Given the description of an element on the screen output the (x, y) to click on. 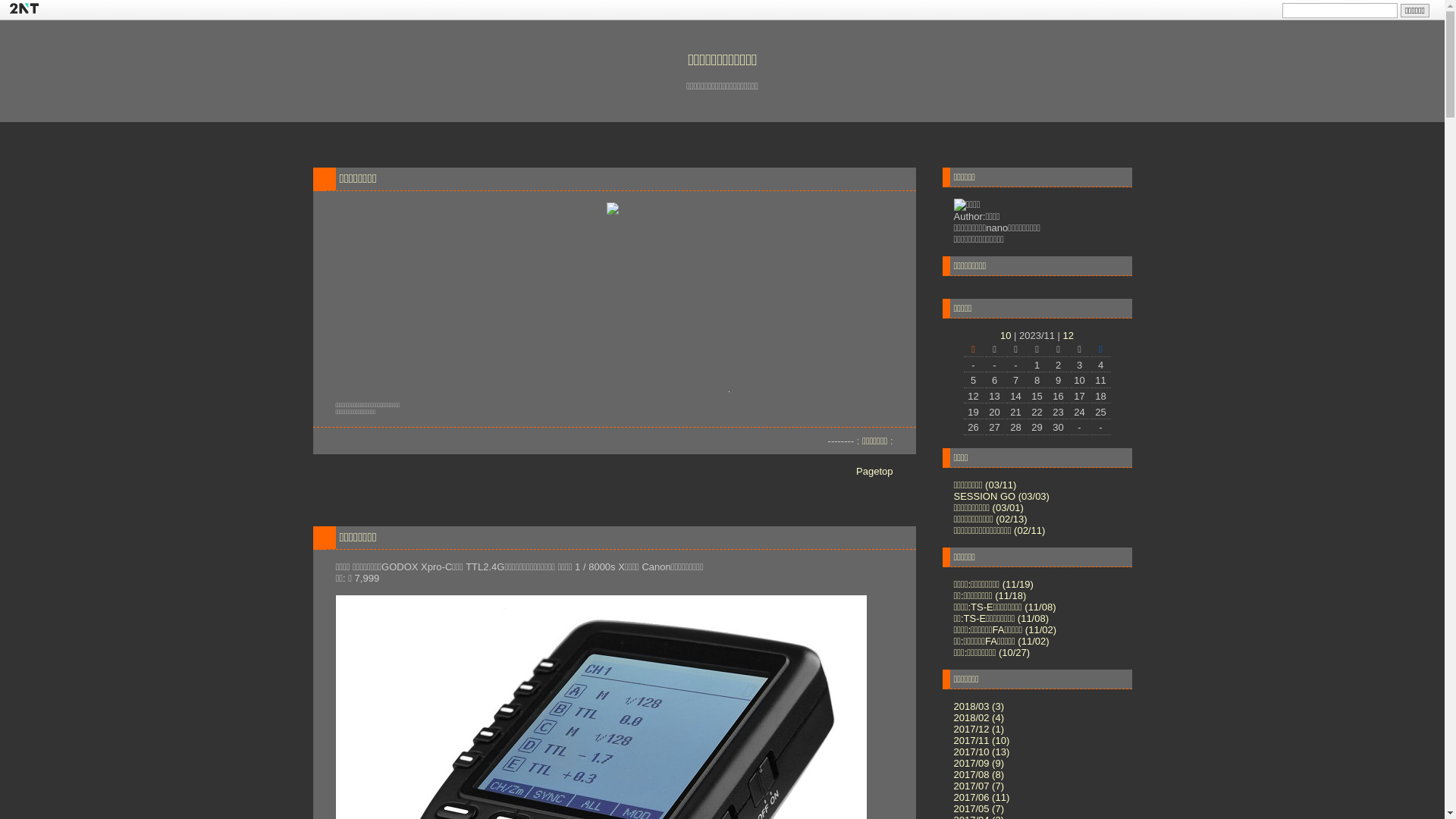
2017/10 (13) Element type: text (981, 751)
2017/11 (10) Element type: text (981, 740)
2017/05 (7) Element type: text (978, 808)
Pagetop Element type: text (874, 470)
2017/06 (11) Element type: text (981, 797)
10 Element type: text (1005, 335)
2017/08 (8) Element type: text (978, 774)
2018/03 (3) Element type: text (978, 706)
2017/07 (7) Element type: text (978, 785)
SESSION GO (03/03) Element type: text (1001, 496)
2018/02 (4) Element type: text (978, 717)
2017/09 (9) Element type: text (978, 762)
12 Element type: text (1068, 335)
2017/12 (1) Element type: text (978, 728)
